Given the description of an element on the screen output the (x, y) to click on. 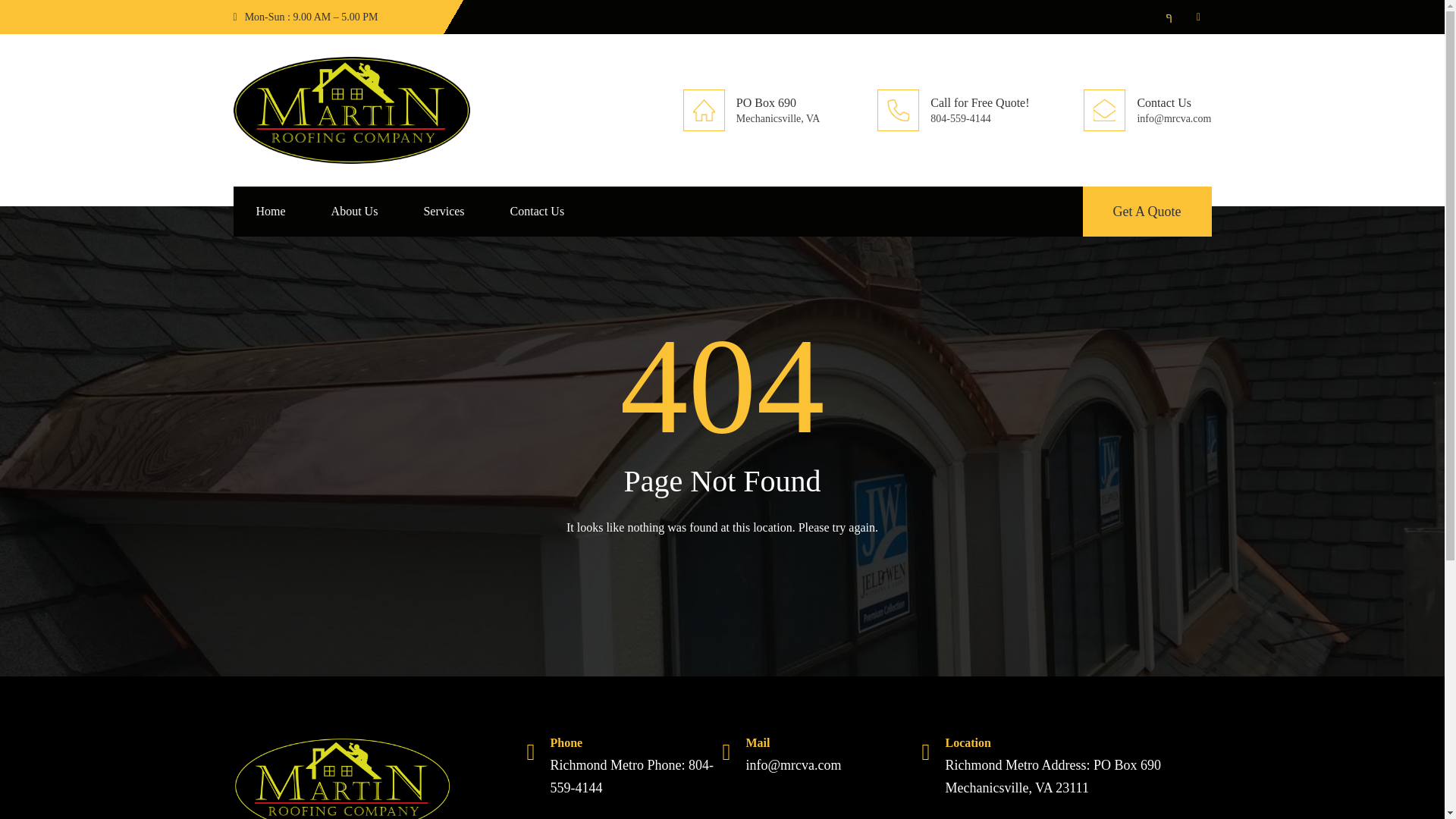
Contact Us (537, 211)
Services (443, 211)
Get A Quote (1147, 211)
About Us (354, 211)
Home (270, 211)
